Given the description of an element on the screen output the (x, y) to click on. 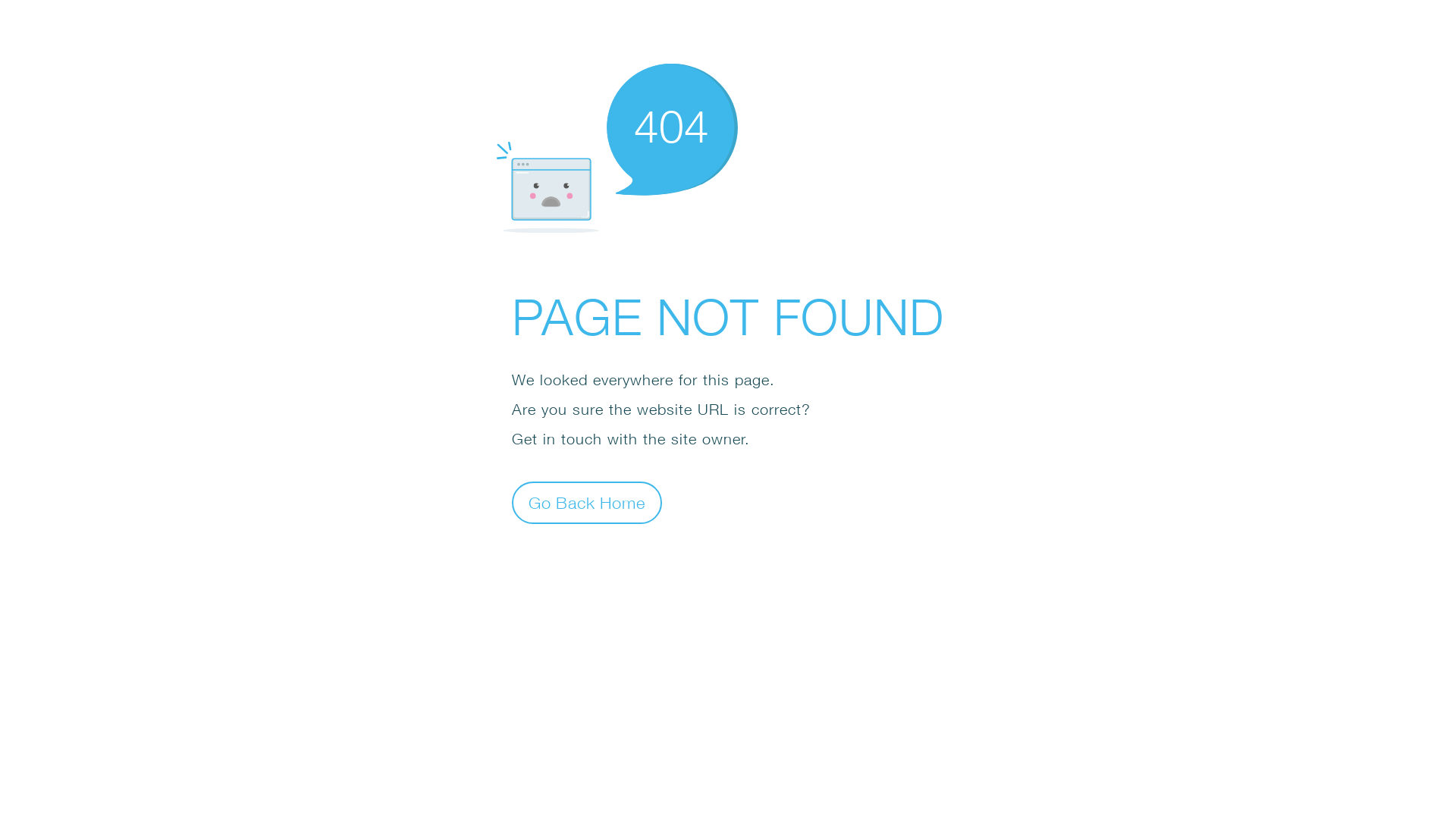
Go Back Home Element type: text (586, 502)
